Given the description of an element on the screen output the (x, y) to click on. 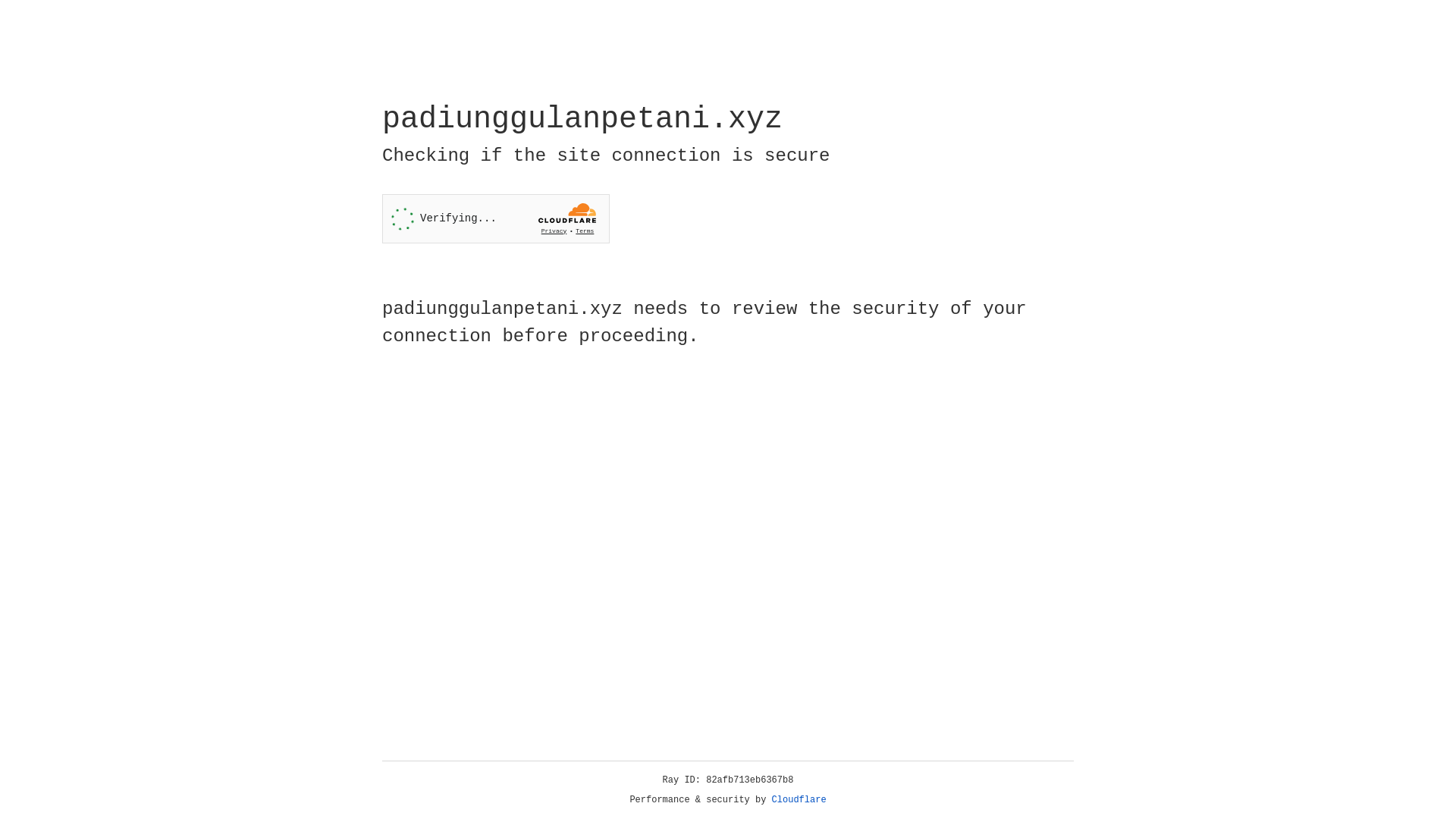
Cloudflare Element type: text (798, 799)
Widget containing a Cloudflare security challenge Element type: hover (495, 218)
